Given the description of an element on the screen output the (x, y) to click on. 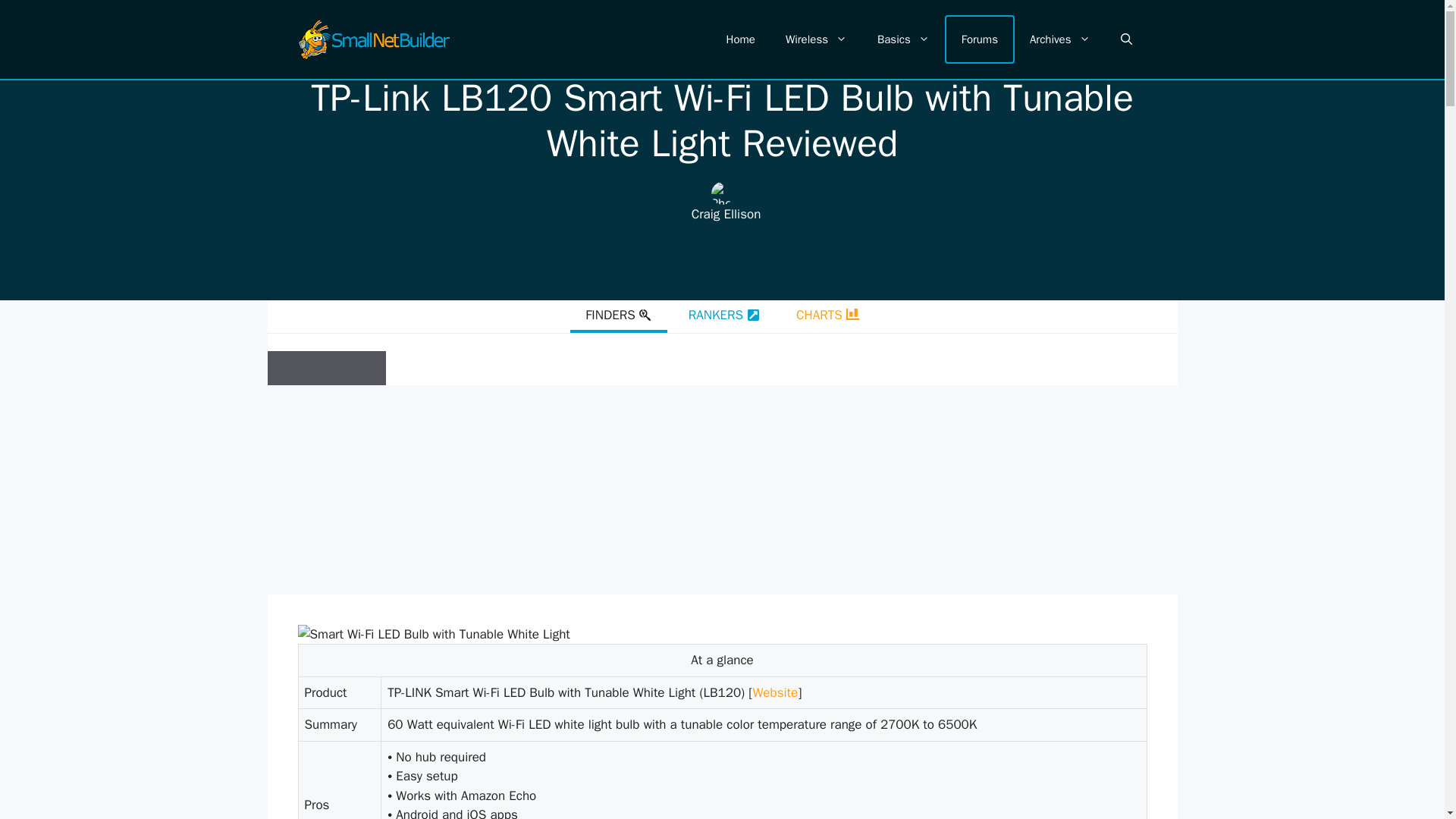
Wireless (815, 39)
Home (740, 39)
Archives (1059, 39)
Basics (902, 39)
Forums (979, 39)
